Given the description of an element on the screen output the (x, y) to click on. 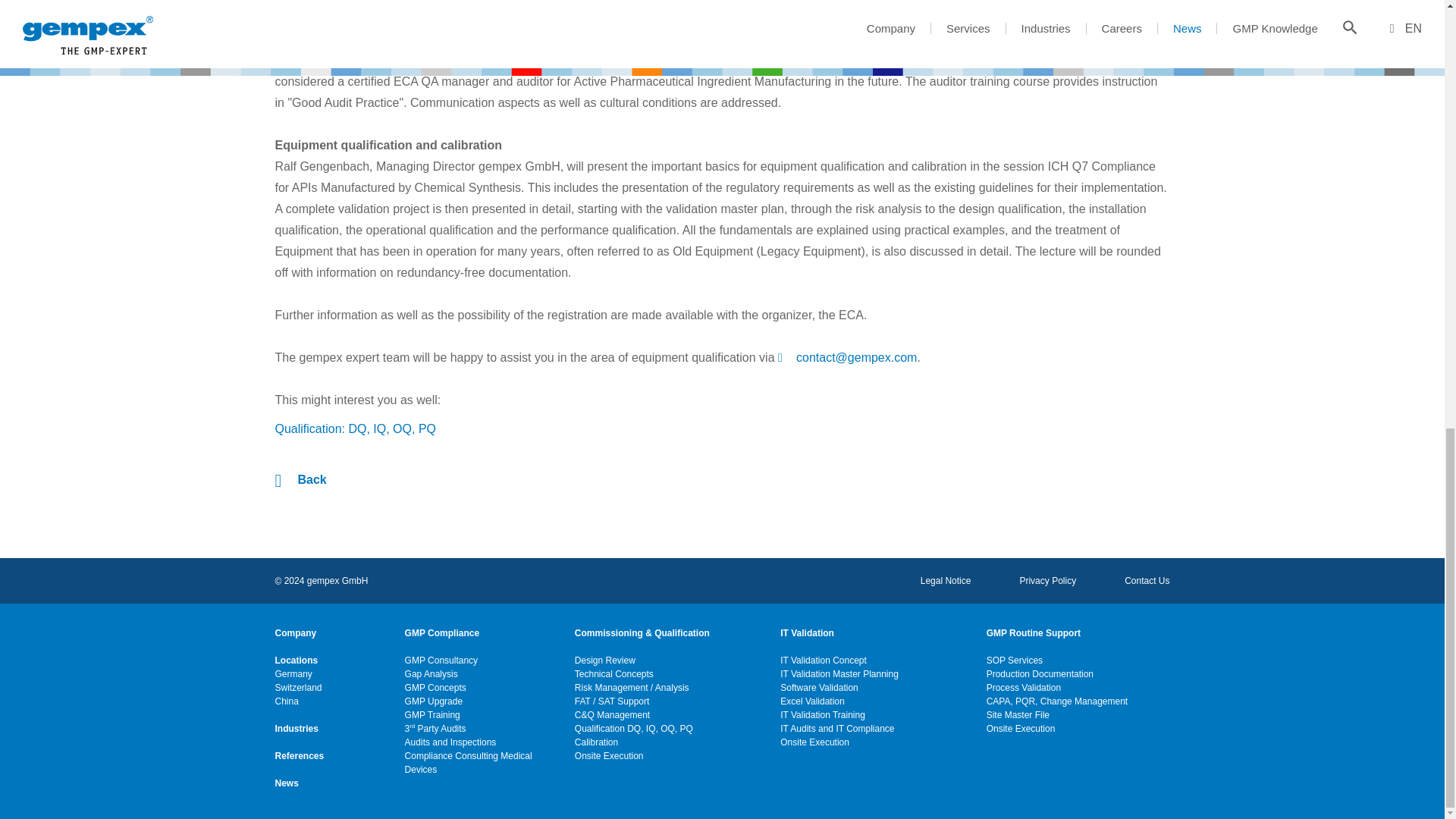
China (286, 701)
Audits and Inspections (450, 742)
Design Review (604, 660)
References (299, 755)
Industries (296, 728)
Gap Analysis (431, 673)
back (300, 479)
GMP Upgrade (433, 701)
Germany (293, 673)
Company (295, 632)
